Given the description of an element on the screen output the (x, y) to click on. 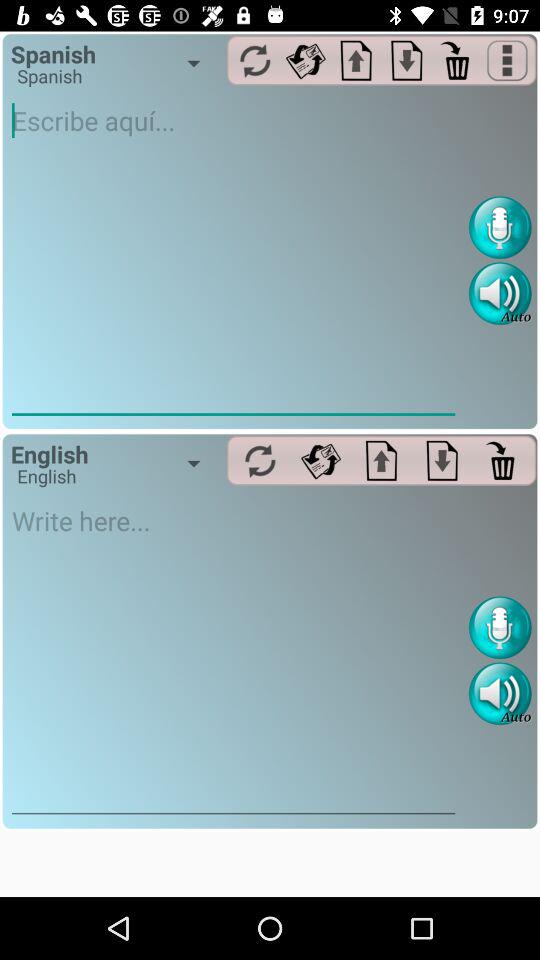
upload button (381, 460)
